Given the description of an element on the screen output the (x, y) to click on. 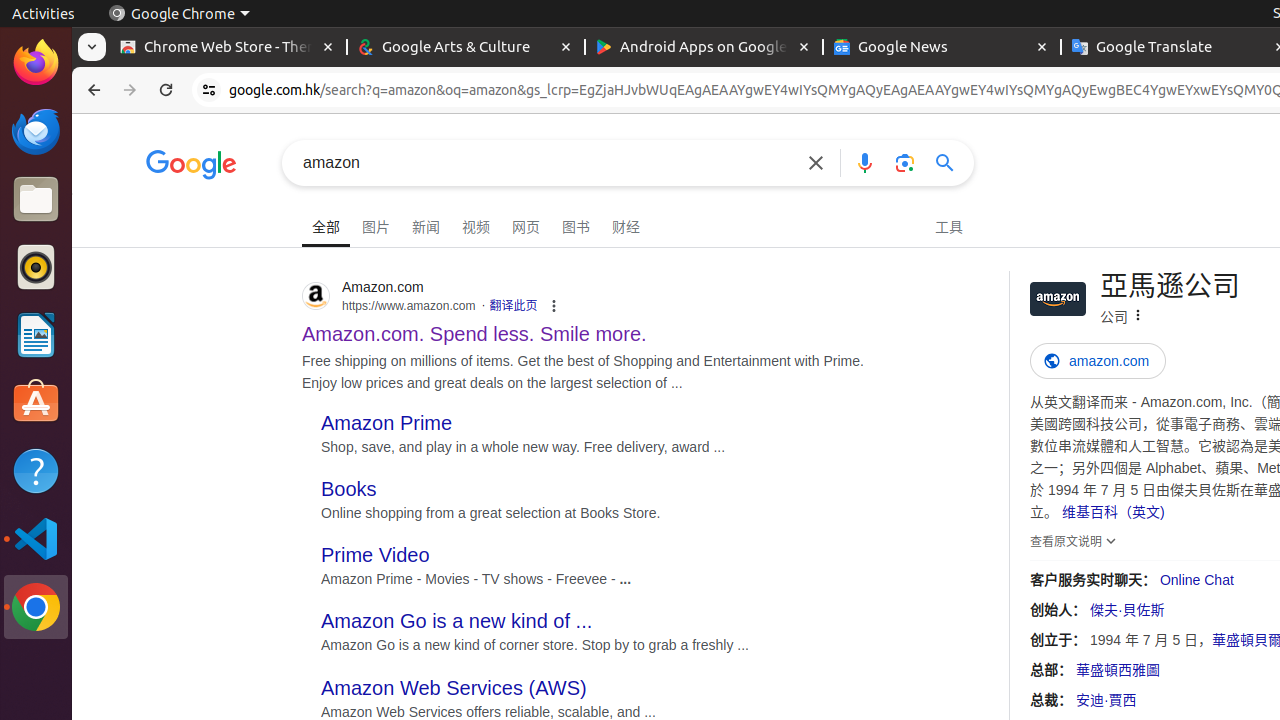
Google Chrome Element type: push-button (36, 607)
无障碍功能帮助 Element type: link (138, 194)
查看原文说明 Element type: push-button (1075, 541)
维基百科（英文) Element type: link (1113, 511)
Books Element type: link (349, 489)
